Given the description of an element on the screen output the (x, y) to click on. 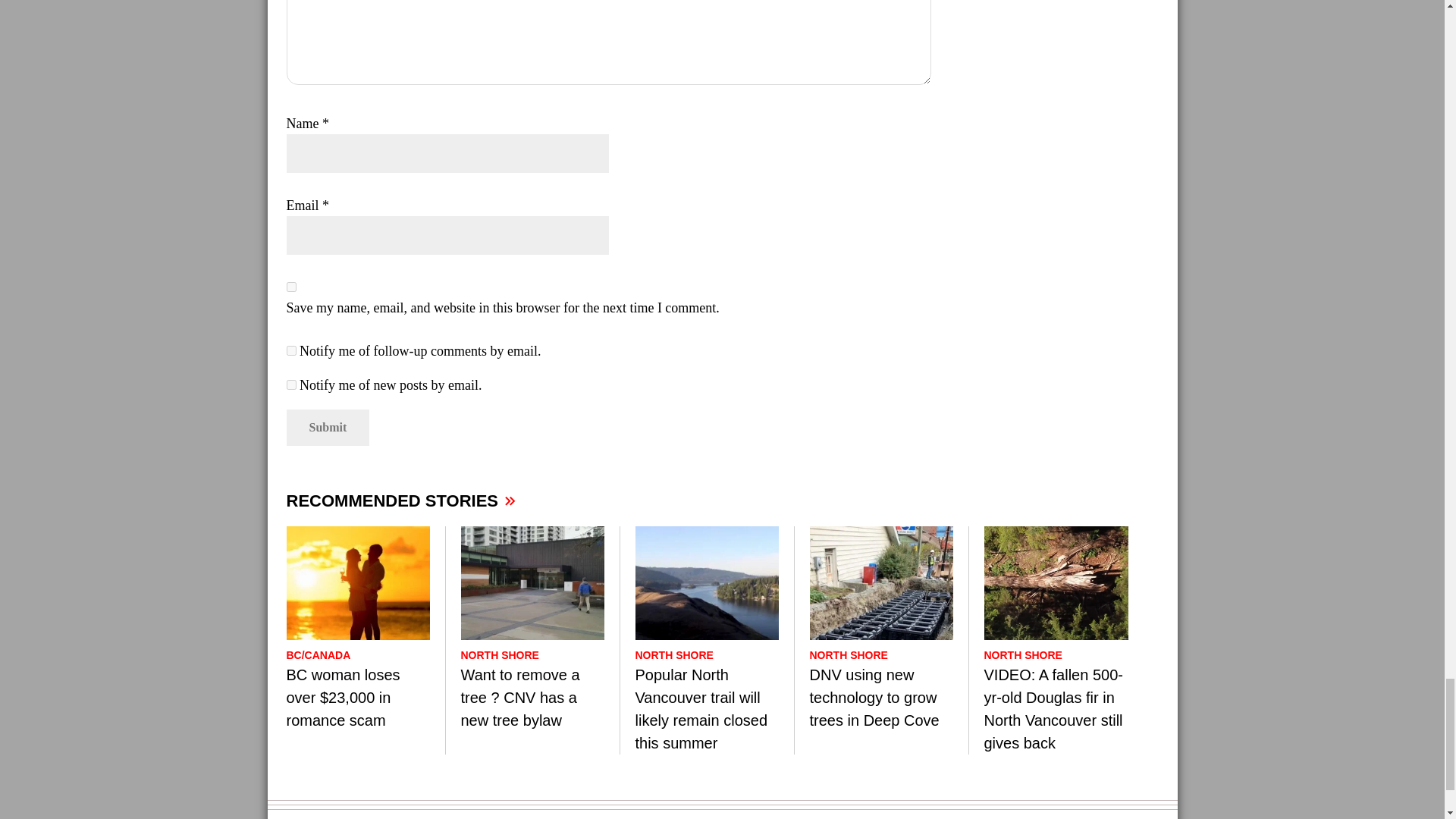
Submit (327, 427)
subscribe (291, 350)
subscribe (291, 384)
yes (291, 286)
